Given the description of an element on the screen output the (x, y) to click on. 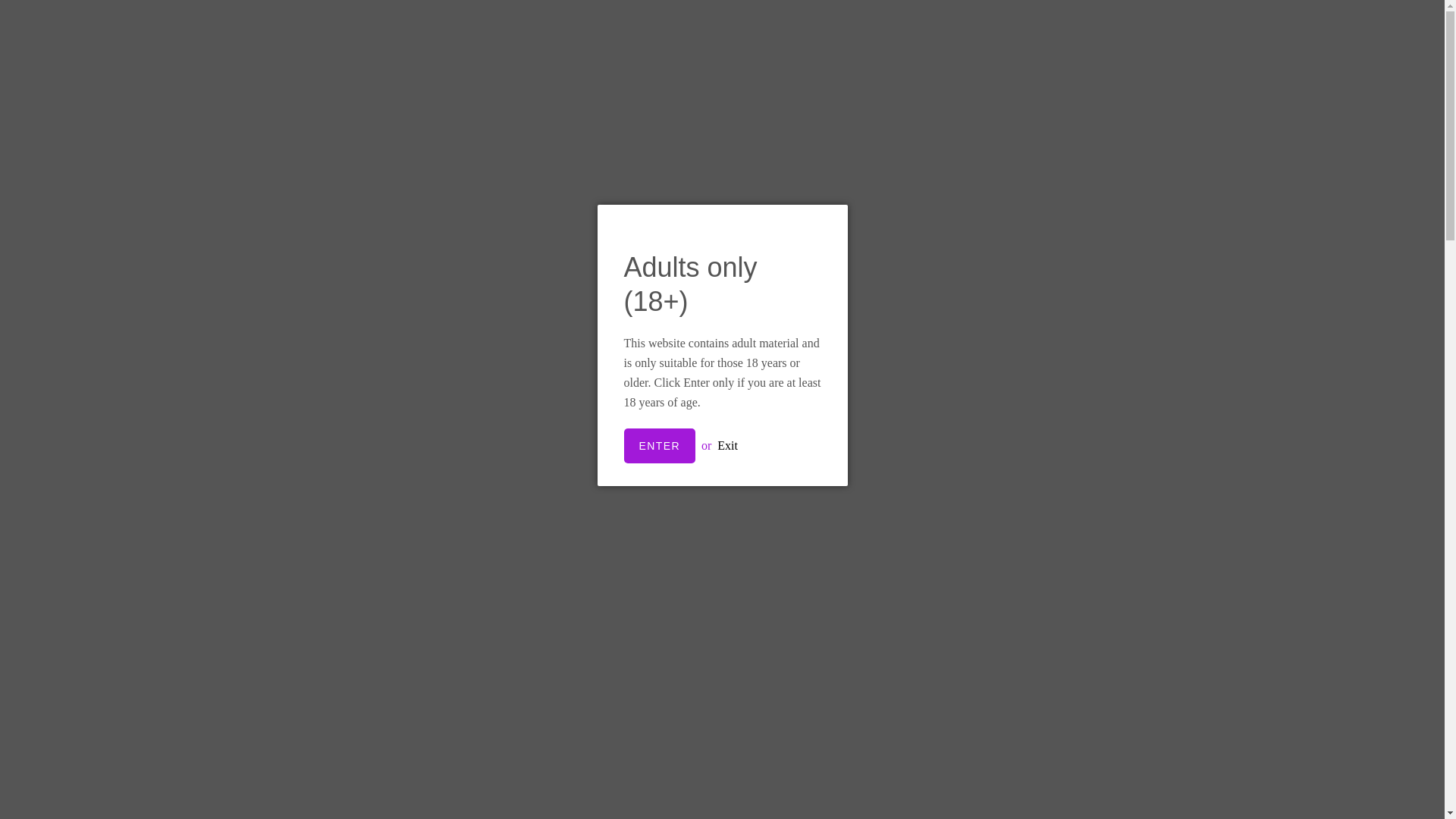
Home (1173, 156)
Juice (292, 274)
